Given the description of an element on the screen output the (x, y) to click on. 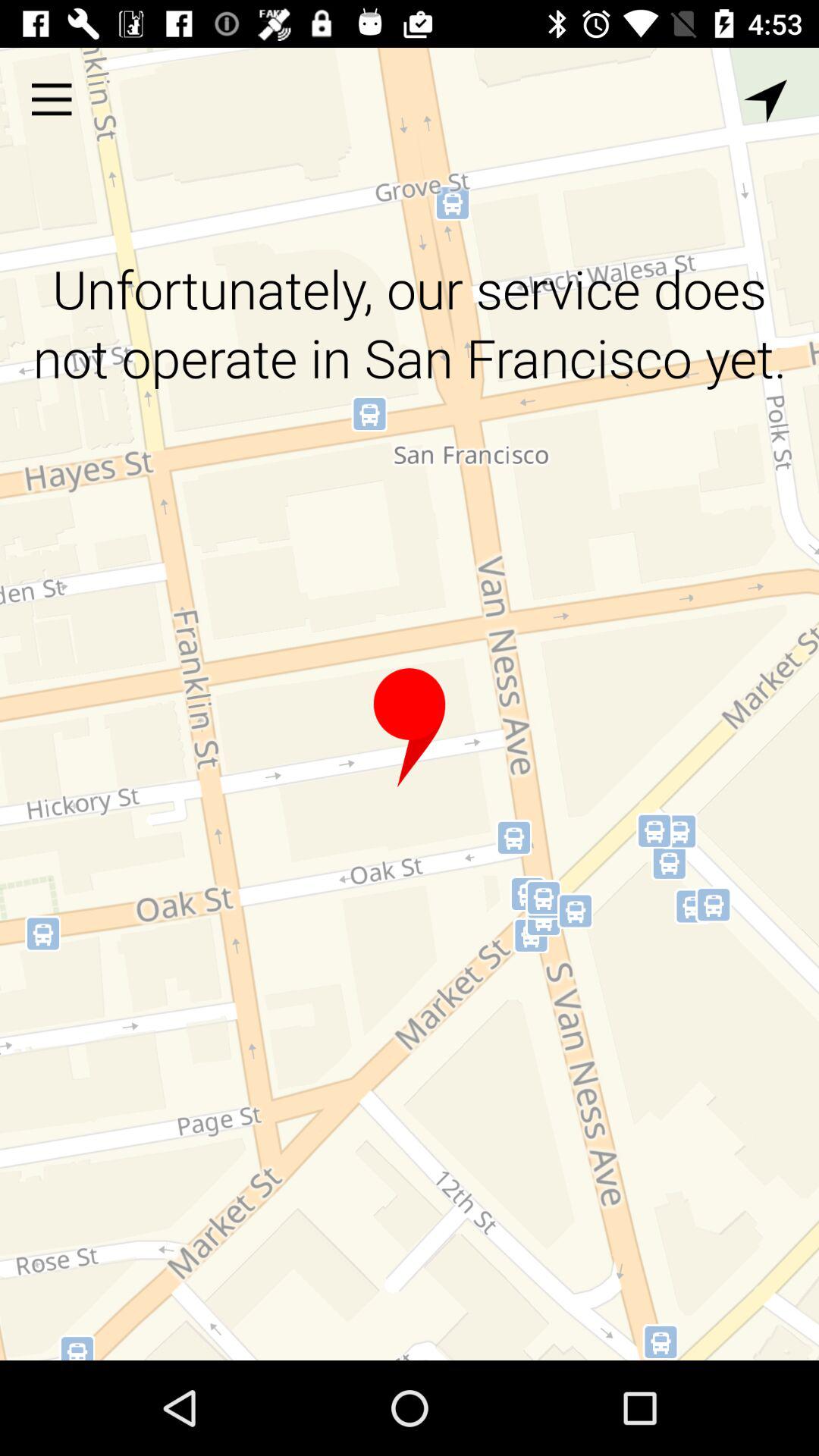
location (409, 727)
